Given the description of an element on the screen output the (x, y) to click on. 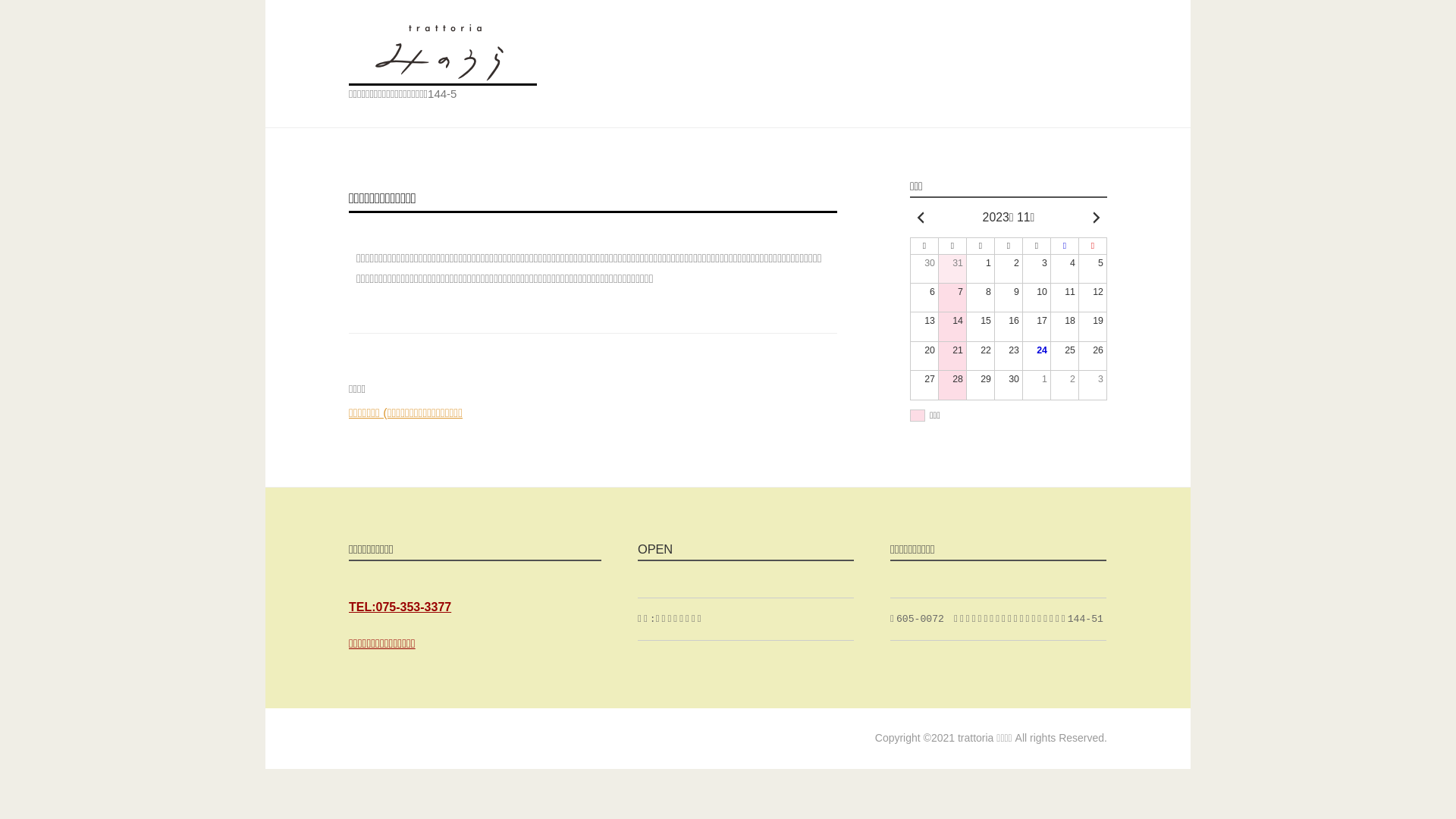
TEL:075-353-3377 Element type: text (399, 606)
